Given the description of an element on the screen output the (x, y) to click on. 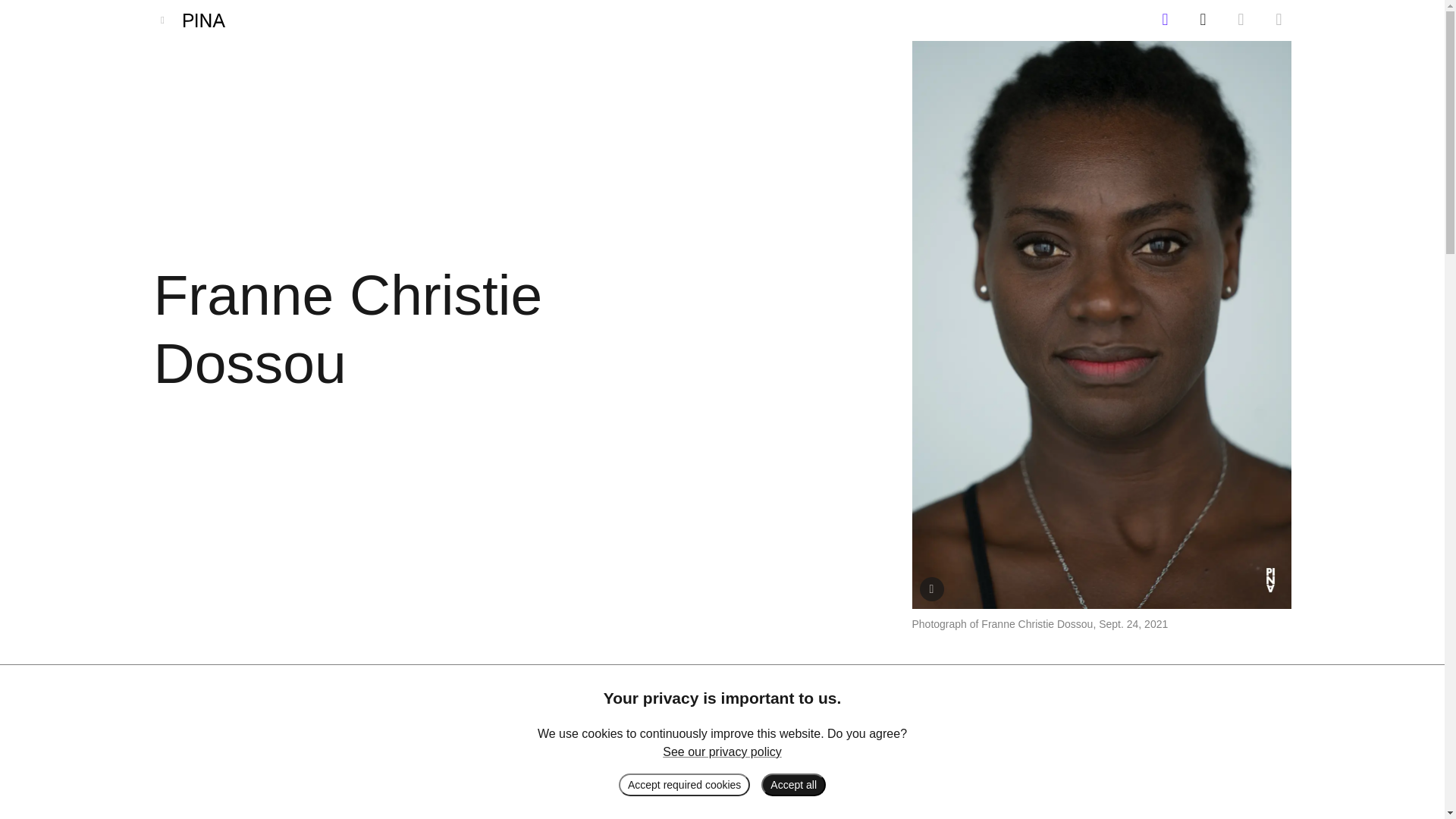
Posts in plain language (1208, 20)
Search (1284, 20)
Events (1170, 20)
Go to homepage (207, 20)
Open menu (162, 20)
Open menu (162, 20)
Search (1284, 20)
Go to homepage (207, 20)
View credits (930, 589)
View credits (930, 589)
Posts in plain language (1208, 20)
Select language (1246, 20)
Select language (1246, 20)
Events (1170, 20)
